Given the description of an element on the screen output the (x, y) to click on. 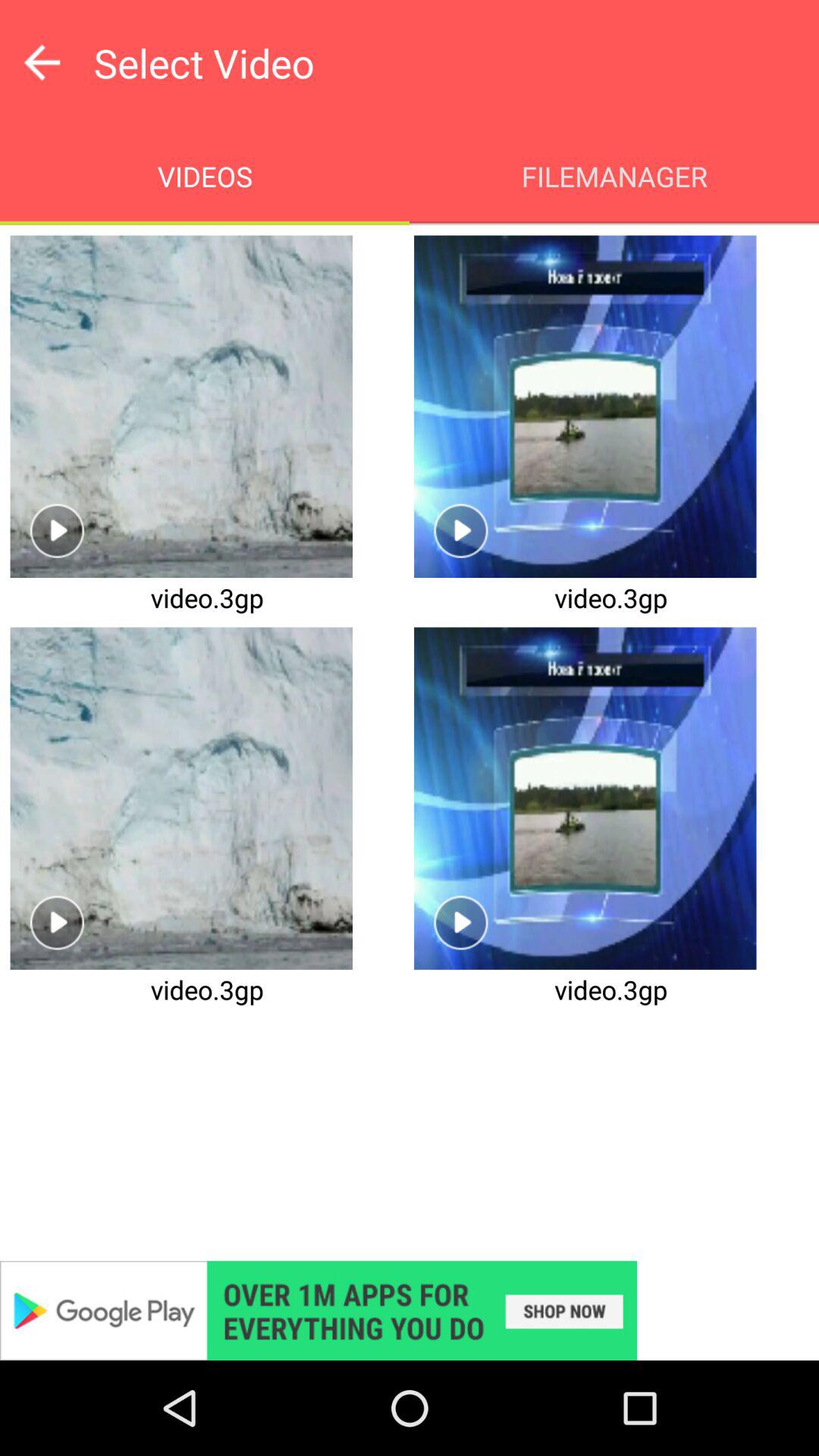
go to the google play store (409, 1310)
